Given the description of an element on the screen output the (x, y) to click on. 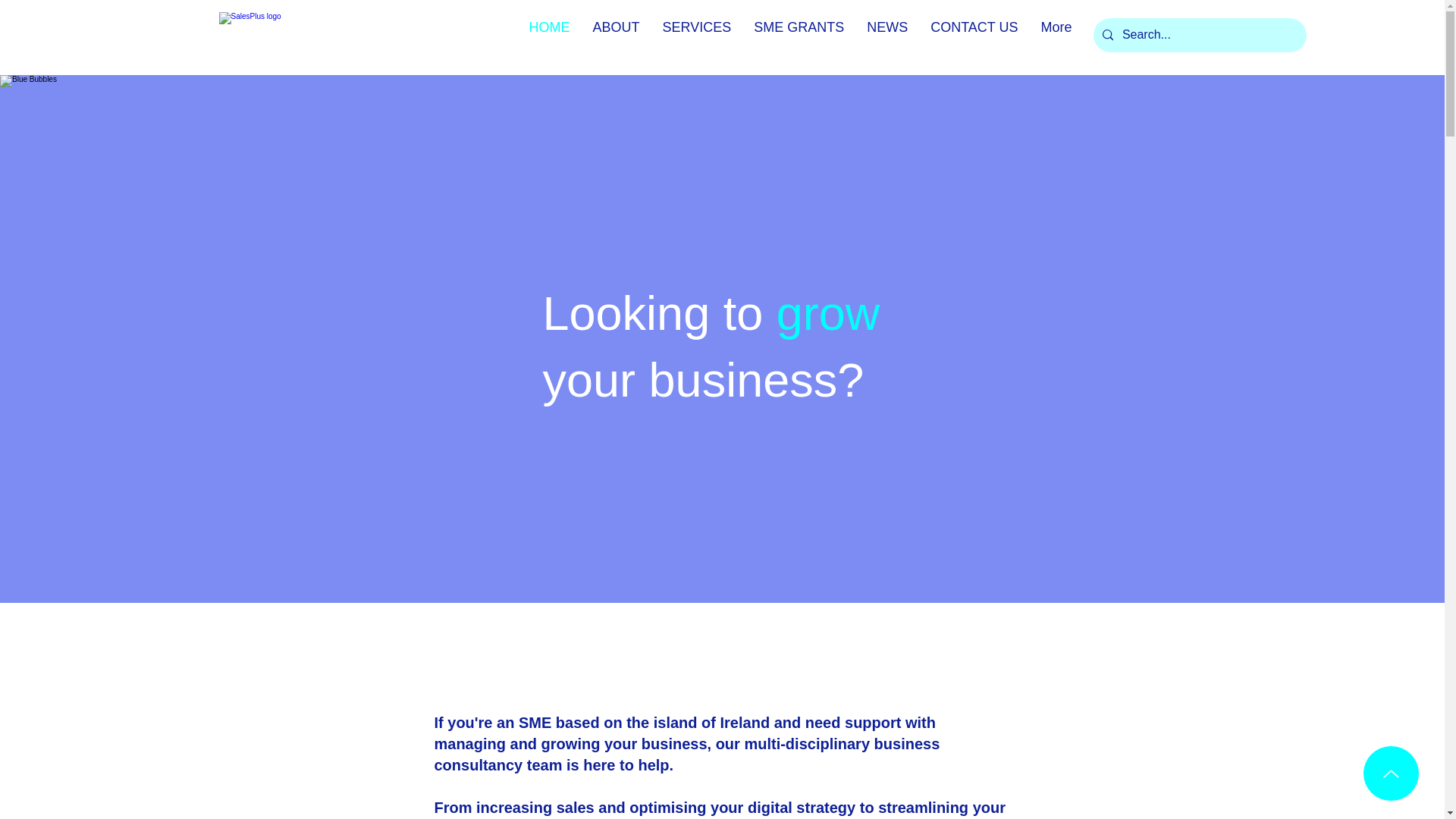
SME GRANTS (799, 37)
CONTACT US (973, 37)
ABOUT (615, 37)
HOME (548, 37)
SERVICES (696, 37)
NEWS (887, 37)
